Given the description of an element on the screen output the (x, y) to click on. 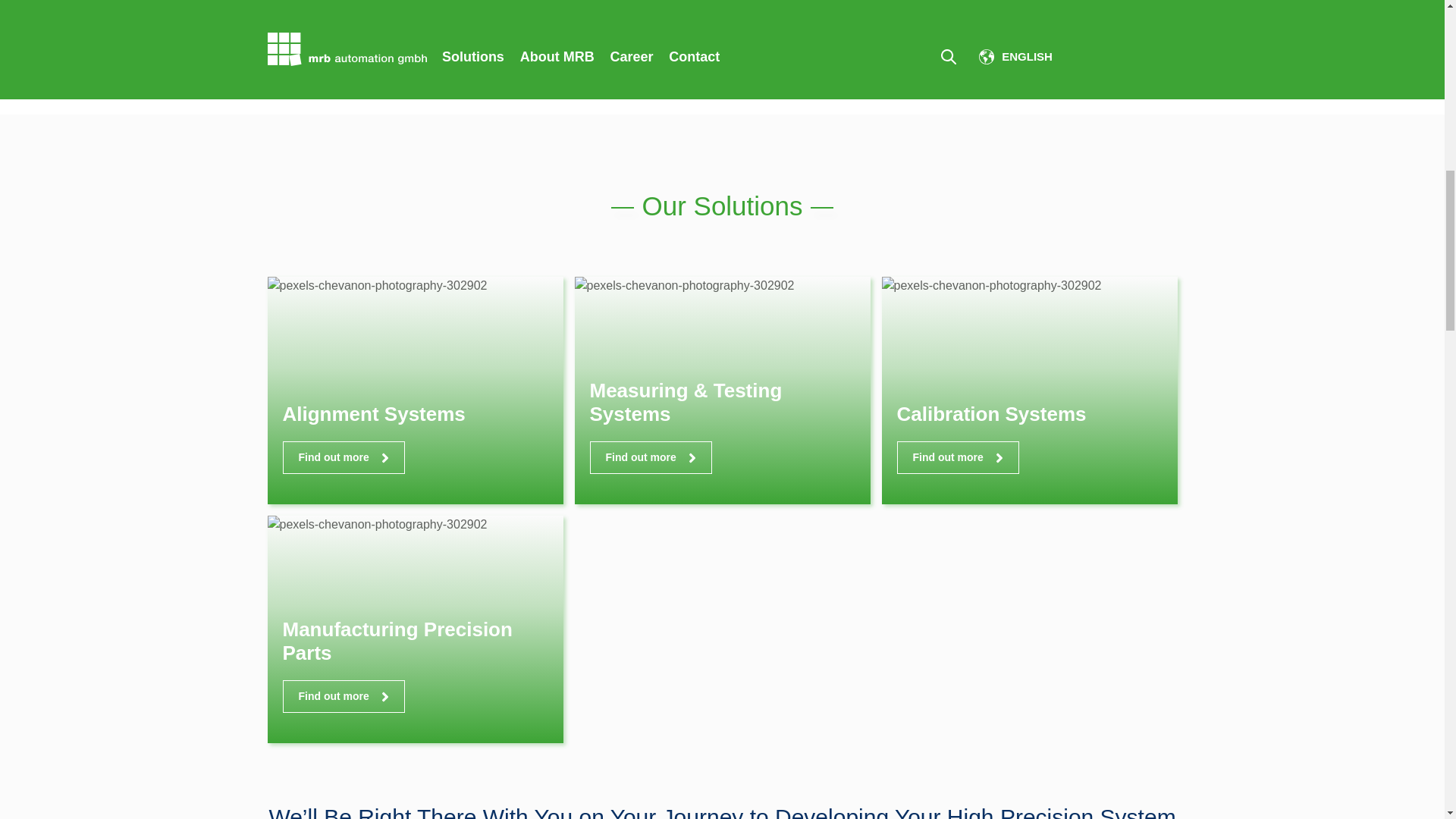
Find out more (343, 696)
Find out more (343, 457)
Find out more (956, 457)
Find out more (650, 457)
